Given the description of an element on the screen output the (x, y) to click on. 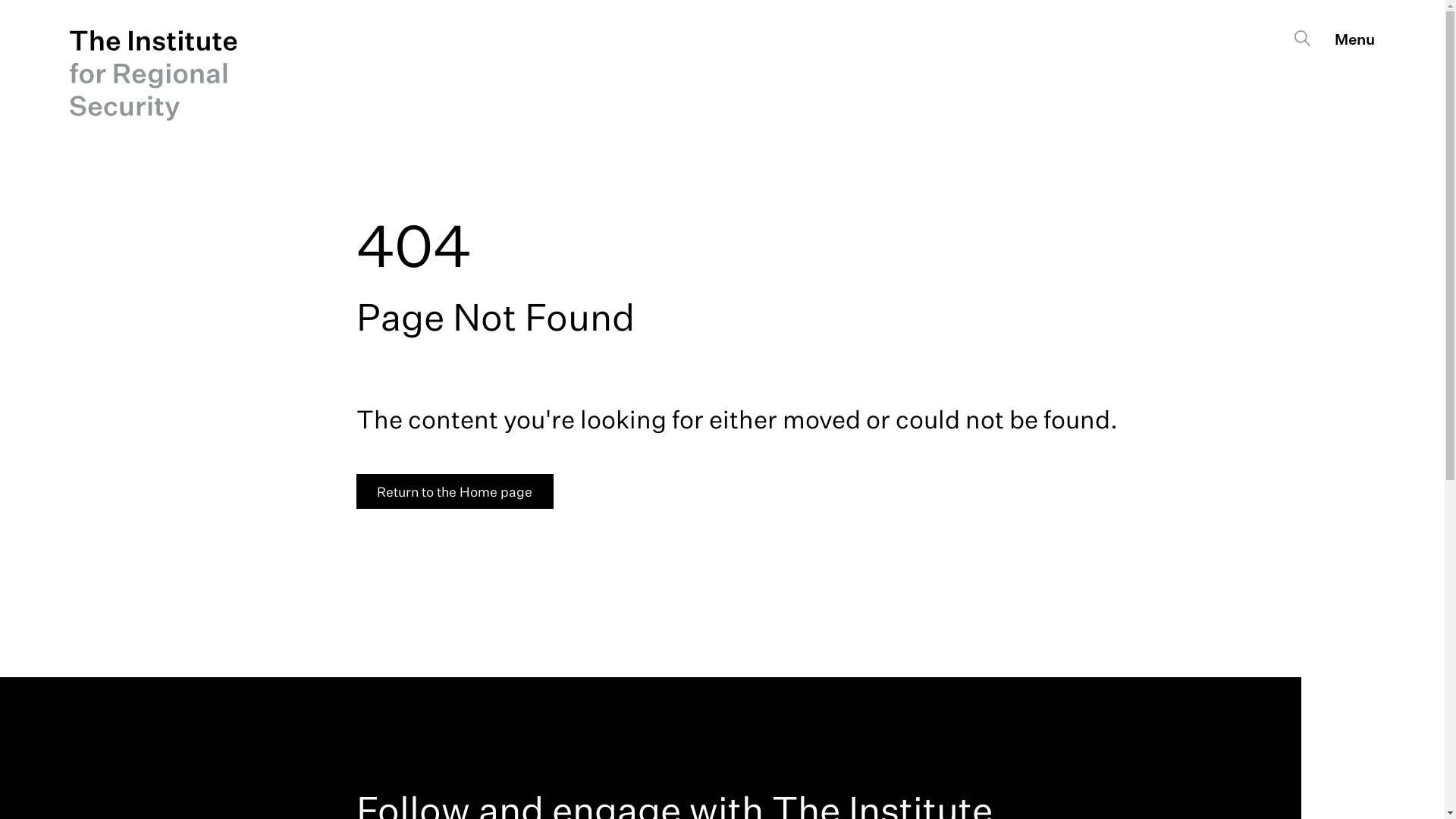
Return to the Home page Element type: text (455, 490)
